Given the description of an element on the screen output the (x, y) to click on. 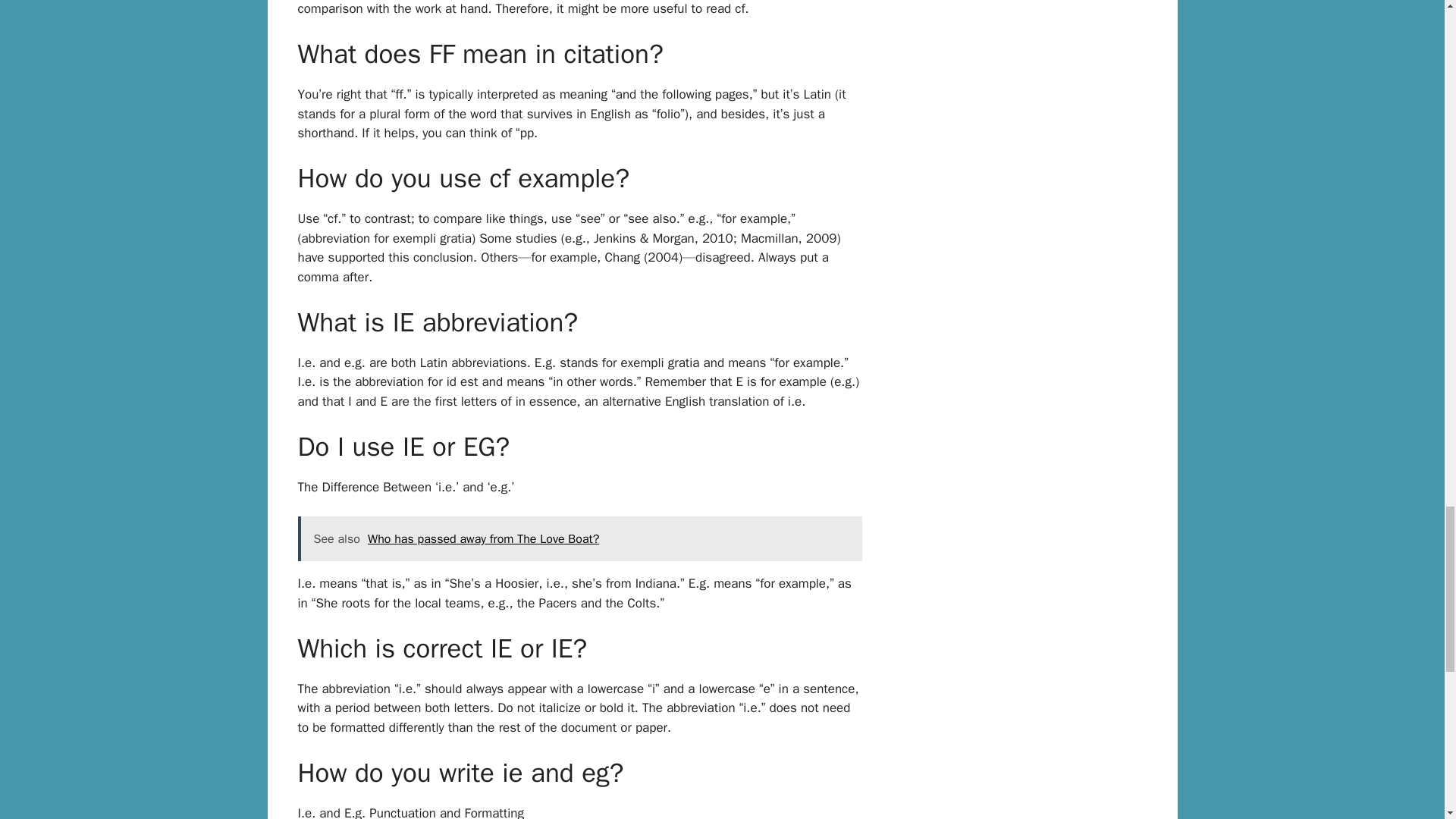
See also  Who has passed away from The Love Boat? (579, 538)
